Given the description of an element on the screen output the (x, y) to click on. 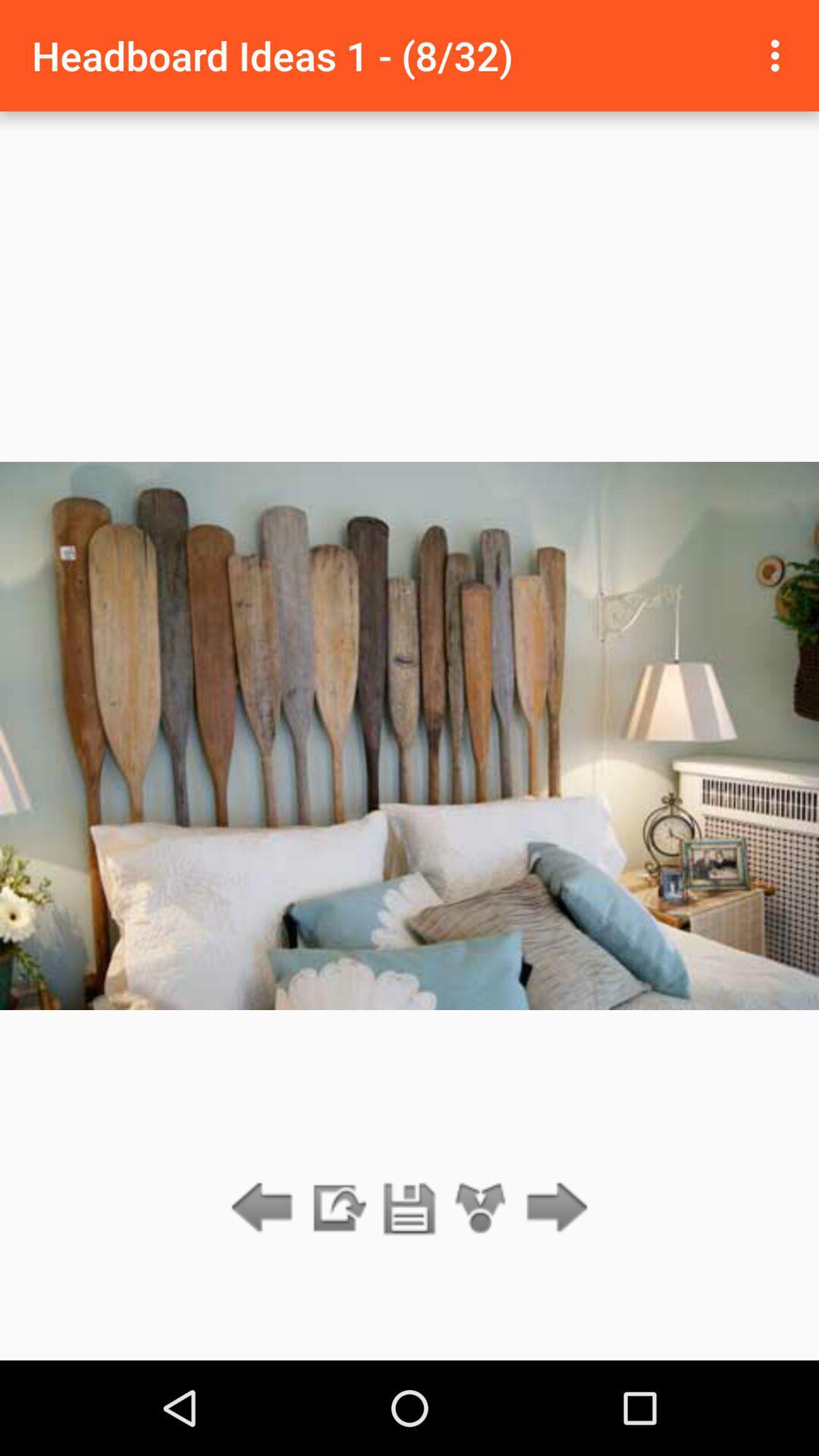
save file (409, 1208)
